Given the description of an element on the screen output the (x, y) to click on. 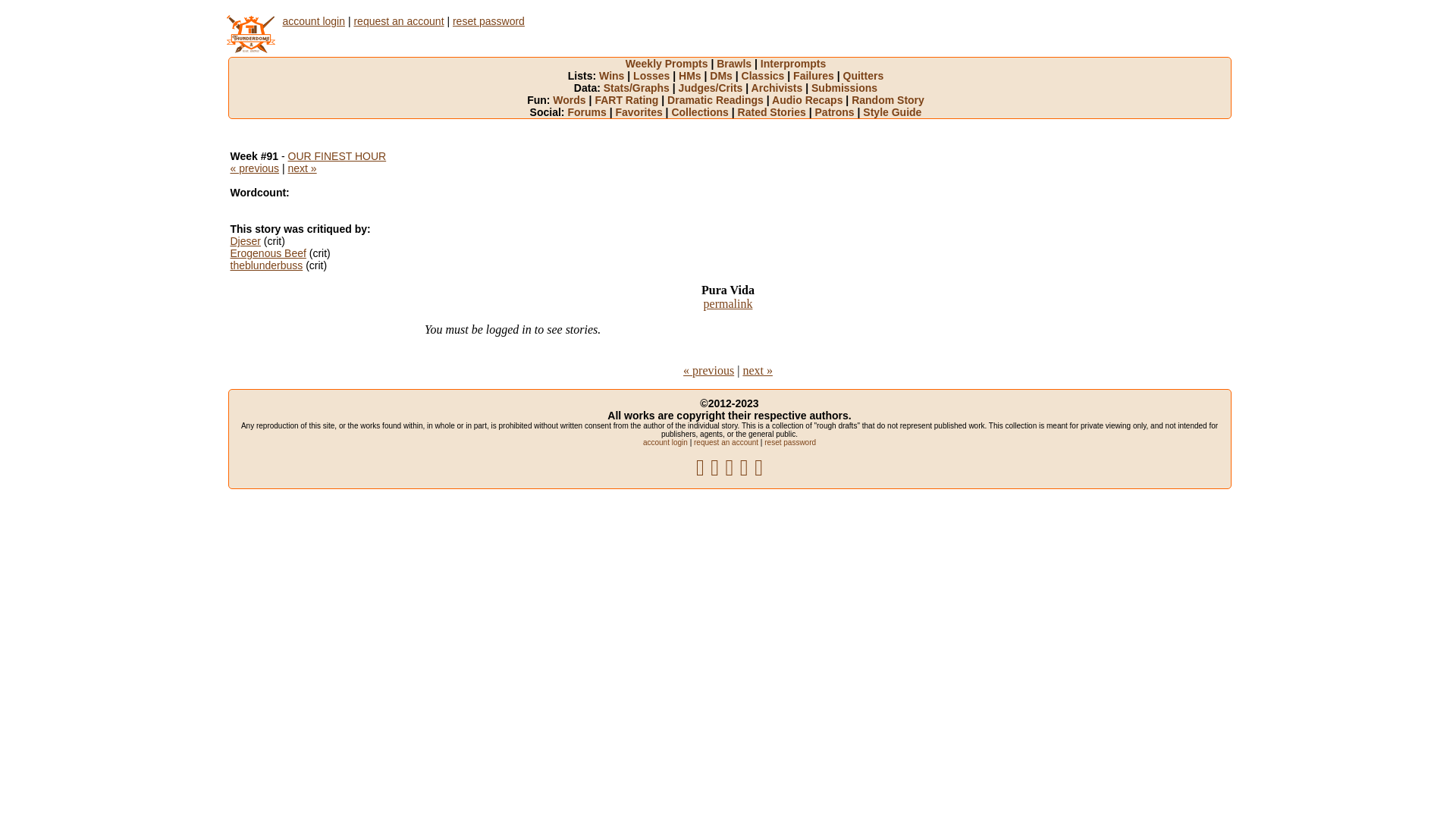
FART Rating Element type: text (630, 100)
Archivists Element type: text (781, 87)
Erogenous Beef Element type: text (268, 253)
Favorites Element type: text (643, 112)
Interprompts Element type: text (792, 63)
Brawls Element type: text (738, 63)
Patrons Element type: text (839, 112)
reset password Element type: text (789, 442)
Style Guide Element type: text (891, 112)
theblunderbuss Element type: text (266, 265)
Wins Element type: text (616, 75)
HMs Element type: text (693, 75)
reset password Element type: text (488, 21)
Judges/Crits Element type: text (714, 87)
Failures Element type: text (817, 75)
request an account Element type: text (725, 442)
account login Element type: text (313, 21)
account login Element type: text (665, 442)
Classics Element type: text (767, 75)
Words Element type: text (573, 100)
Random Story Element type: text (887, 100)
DMs Element type: text (724, 75)
Dramatic Readings Element type: text (719, 100)
permalink Element type: text (728, 303)
Losses Element type: text (655, 75)
Weekly Prompts Element type: text (670, 63)
Djeser Element type: text (245, 241)
OUR FINEST HOUR Element type: text (337, 156)
Rated Stories Element type: text (776, 112)
Quitters Element type: text (863, 75)
Forums Element type: text (591, 112)
Submissions Element type: text (844, 87)
Stats/Graphs Element type: text (640, 87)
Audio Recaps Element type: text (811, 100)
request an account Element type: text (398, 21)
Collections Element type: text (704, 112)
